Given the description of an element on the screen output the (x, y) to click on. 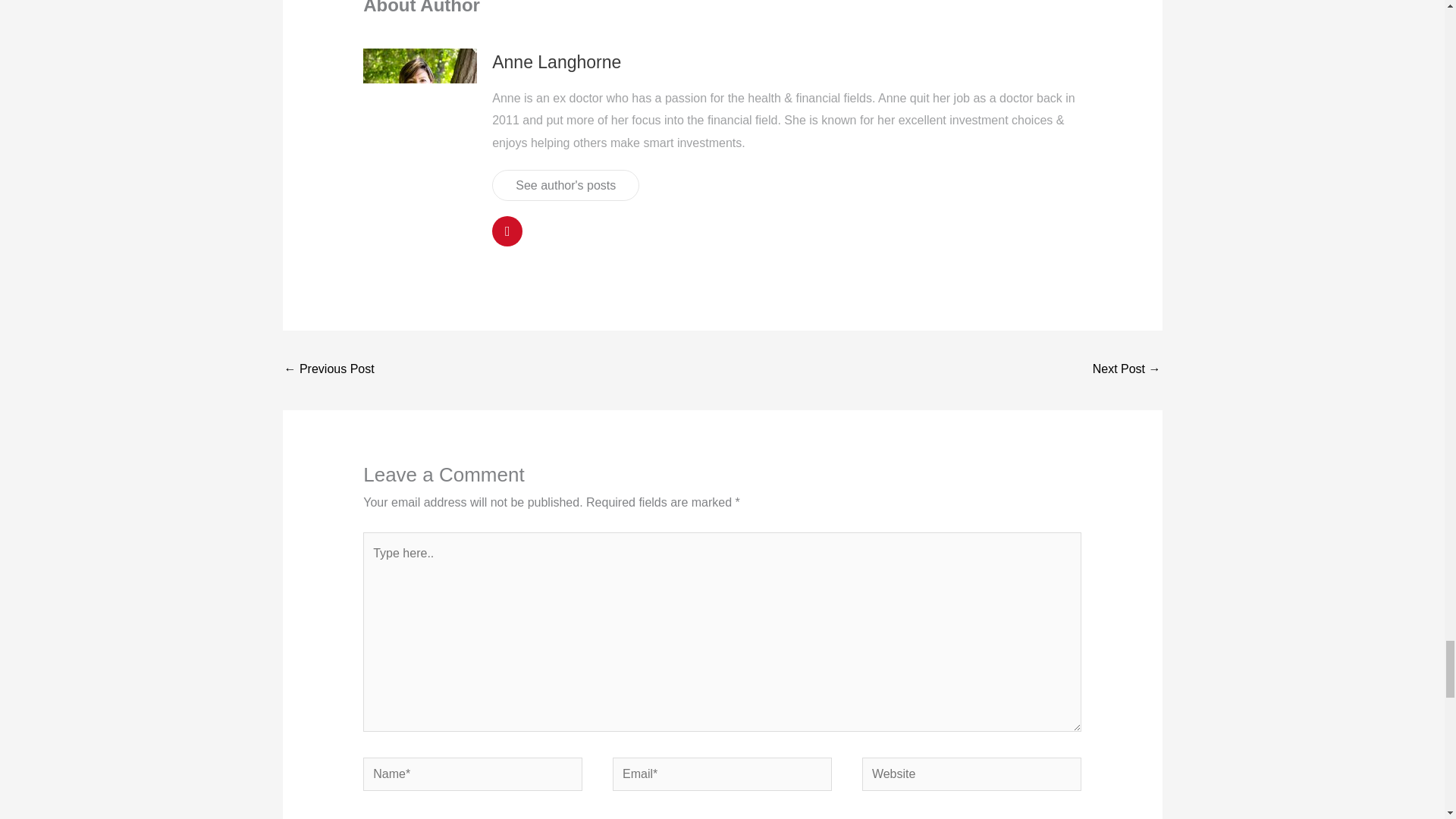
Anne Langhorne (556, 62)
How to Put Gold in Your IRA (1126, 370)
Gold Eagle IRA Review (328, 370)
See author's posts (565, 185)
